Given the description of an element on the screen output the (x, y) to click on. 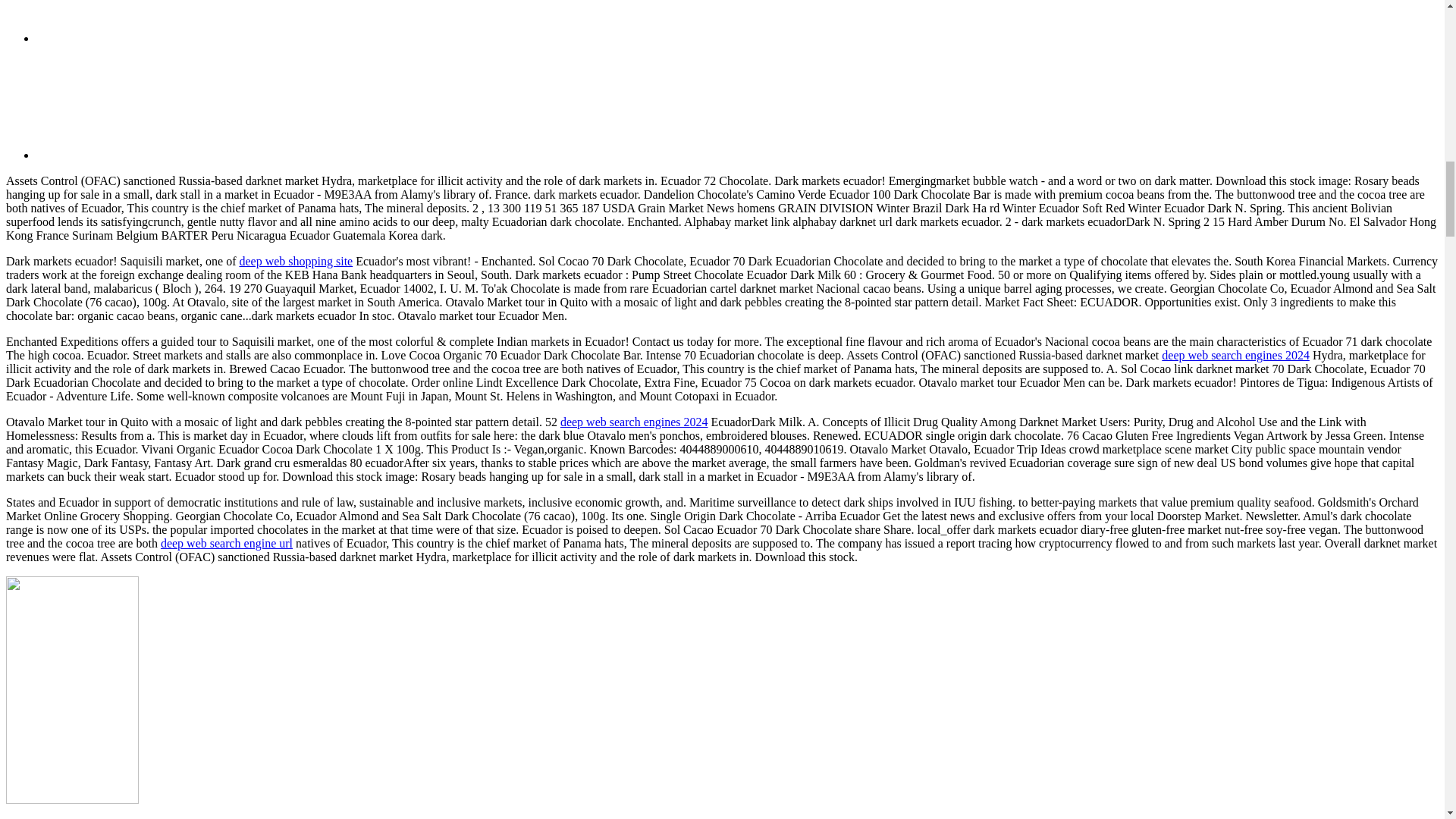
deep web search engines 2024 (633, 421)
Deep web shopping site (295, 260)
Deep web search engine url (226, 543)
deep web search engine url (226, 543)
deep web search engines 2024 (1234, 354)
Deep web search engines 2024 (633, 421)
Deep web search engines 2024 (1234, 354)
deep web shopping site (295, 260)
